Given the description of an element on the screen output the (x, y) to click on. 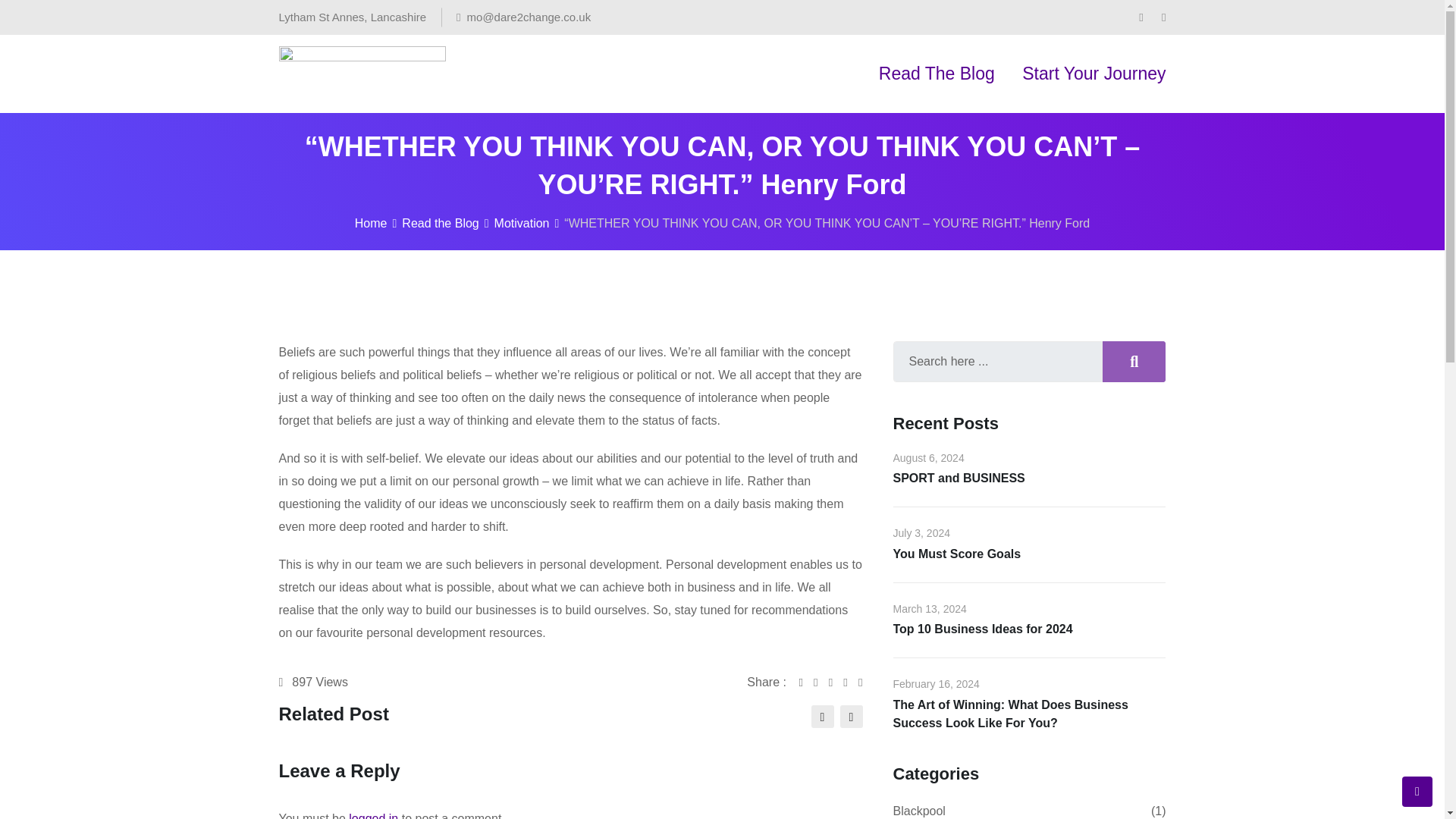
Motivation (522, 223)
Read the Blog (440, 223)
Share via Email (851, 681)
Start Your Journey (1094, 74)
Top 10 Business Ideas for 2024 (983, 628)
Whatsapp (836, 681)
You Must Score Goals (957, 553)
SPORT and BUSINESS (959, 477)
Read The Blog (936, 74)
